Given the description of an element on the screen output the (x, y) to click on. 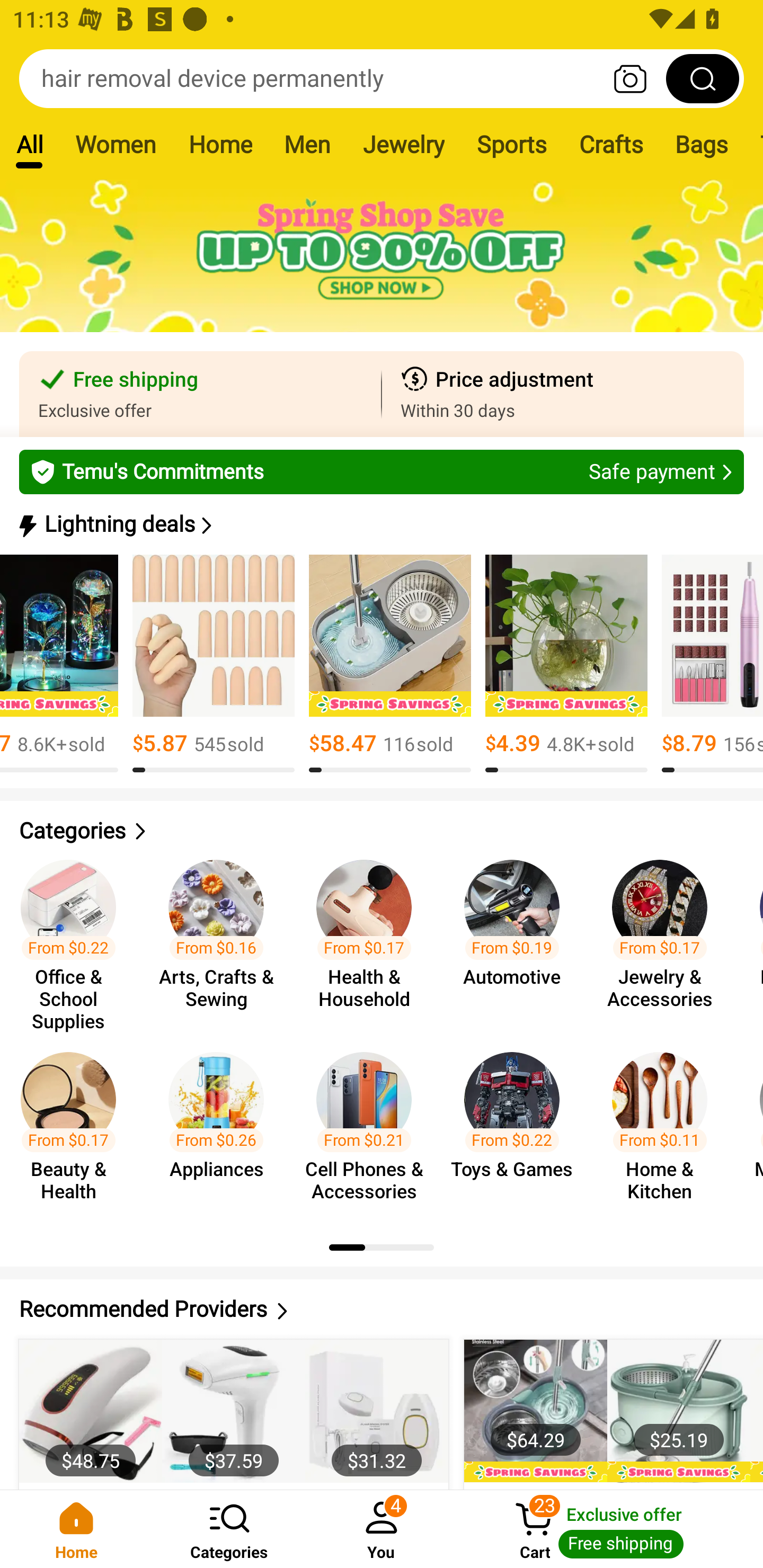
hair removal device permanently (381, 78)
All (29, 144)
Women (115, 144)
Home (219, 144)
Men (306, 144)
Jewelry (403, 144)
Sports (511, 144)
Crafts (611, 144)
Bags (701, 144)
Free shipping Exclusive offer (200, 394)
Price adjustment Within 30 days (562, 394)
Temu's Commitments (381, 471)
Lightning deals (379, 524)
$8.17 8.6K+￼sold 18.0 (59, 664)
$5.87 545￼sold 8.0 (213, 664)
$58.47 116￼sold 8.0 (389, 664)
$4.39 4.8K+￼sold 8.0 (566, 664)
$8.79 156￼sold 8.0 (712, 664)
Categories (381, 830)
From $0.22 Office & School Supplies (74, 936)
From $0.16 Arts, Crafts & Sewing (222, 936)
From $0.17 Health & Household (369, 936)
From $0.19 Automotive (517, 936)
From $0.17 Jewelry & Accessories (665, 936)
From $0.17 Beauty & Health (74, 1128)
From $0.26 Appliances (222, 1128)
From $0.21 Cell Phones & Accessories (369, 1128)
From $0.22 Toys & Games (517, 1128)
From $0.11 Home & Kitchen (665, 1128)
Recommended Providers (381, 1309)
Home (76, 1528)
Categories (228, 1528)
You 4 You (381, 1528)
Cart 23 Cart Exclusive offer (610, 1528)
